Given the description of an element on the screen output the (x, y) to click on. 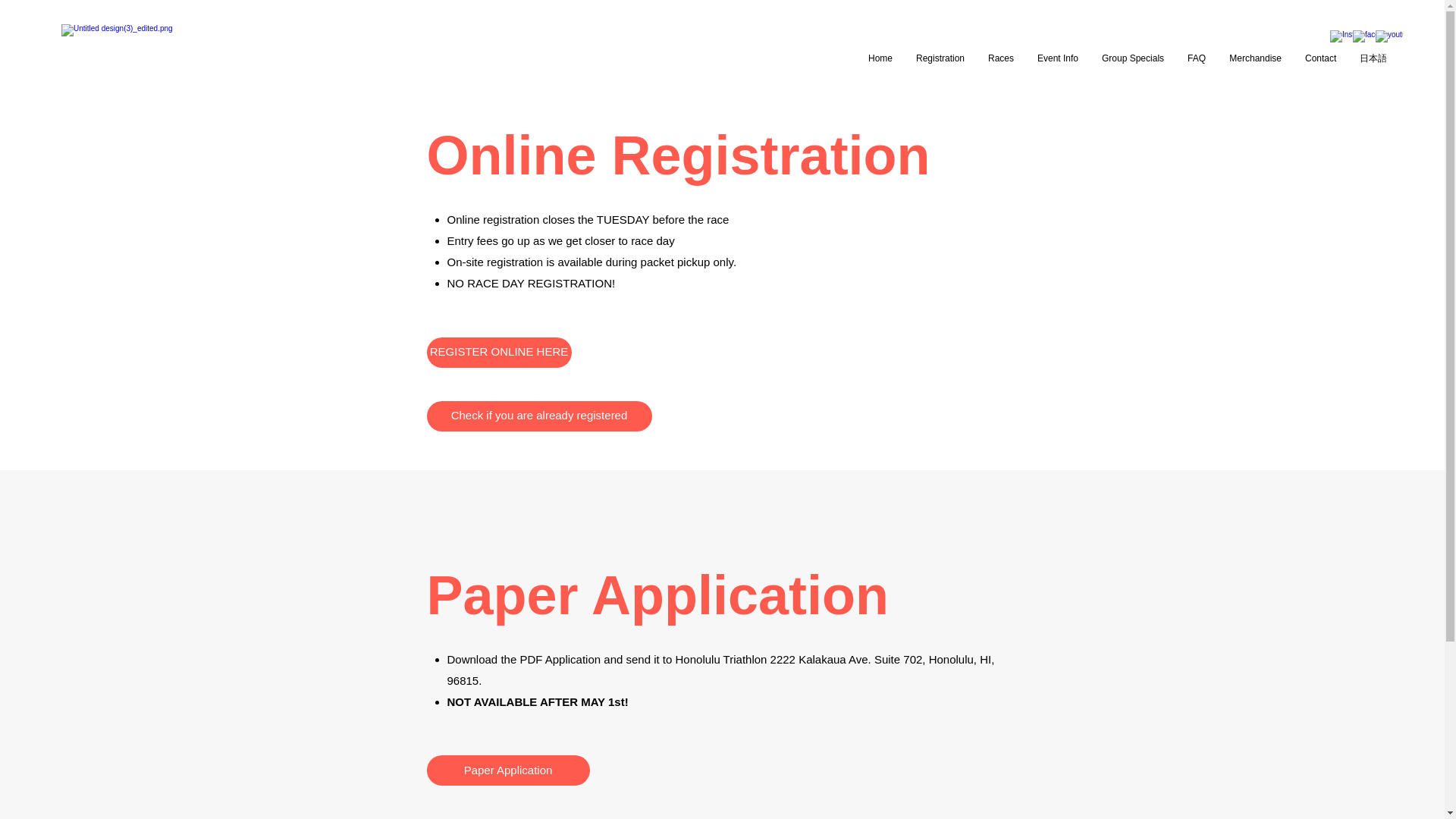
Check if you are already registered (538, 415)
FAQ (1196, 57)
Registration (939, 57)
Event Info (1057, 57)
Home (880, 57)
Races (1000, 57)
Merchandise (1254, 57)
Group Specials (1132, 57)
Contact (1321, 57)
REGISTER ONLINE HERE (498, 351)
